Given the description of an element on the screen output the (x, y) to click on. 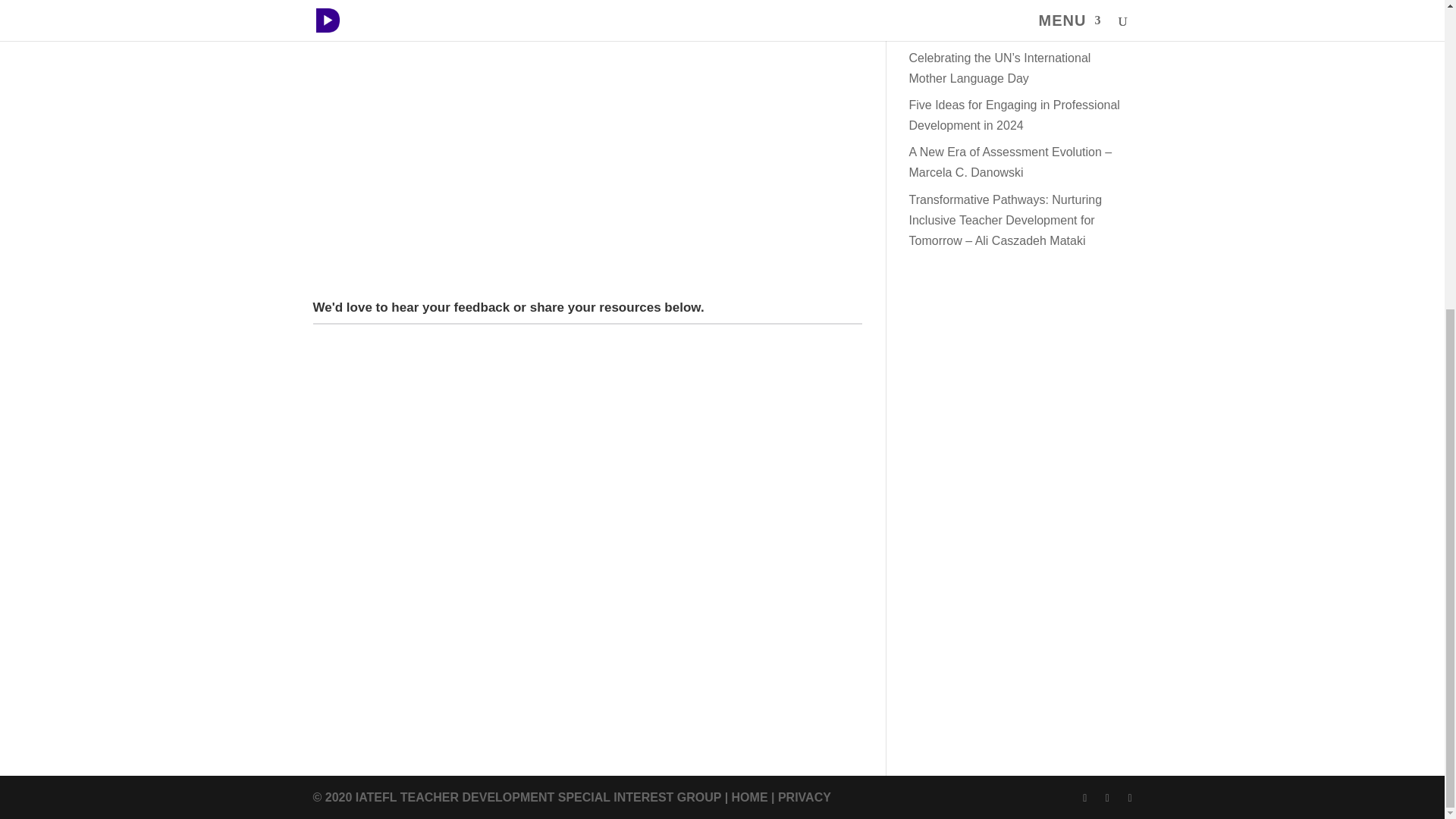
Five Ideas for Engaging in Professional Development in 2024 (1013, 114)
Review: Thus Spoke an English Teacher (1016, 30)
